Given the description of an element on the screen output the (x, y) to click on. 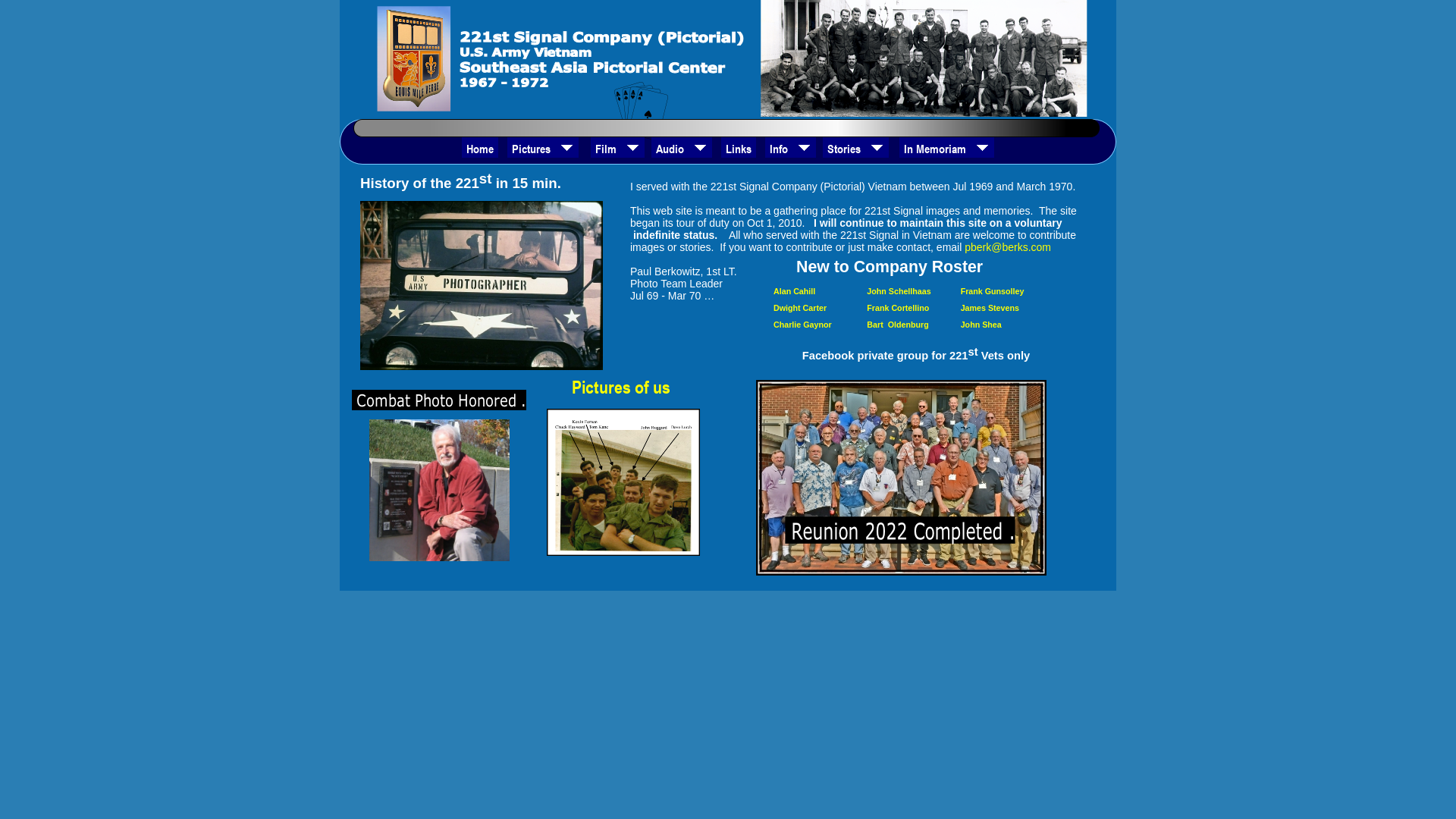
pberk@berks.com Element type: text (1007, 247)
Links Element type: text (737, 147)
Home Element type: text (479, 147)
